Given the description of an element on the screen output the (x, y) to click on. 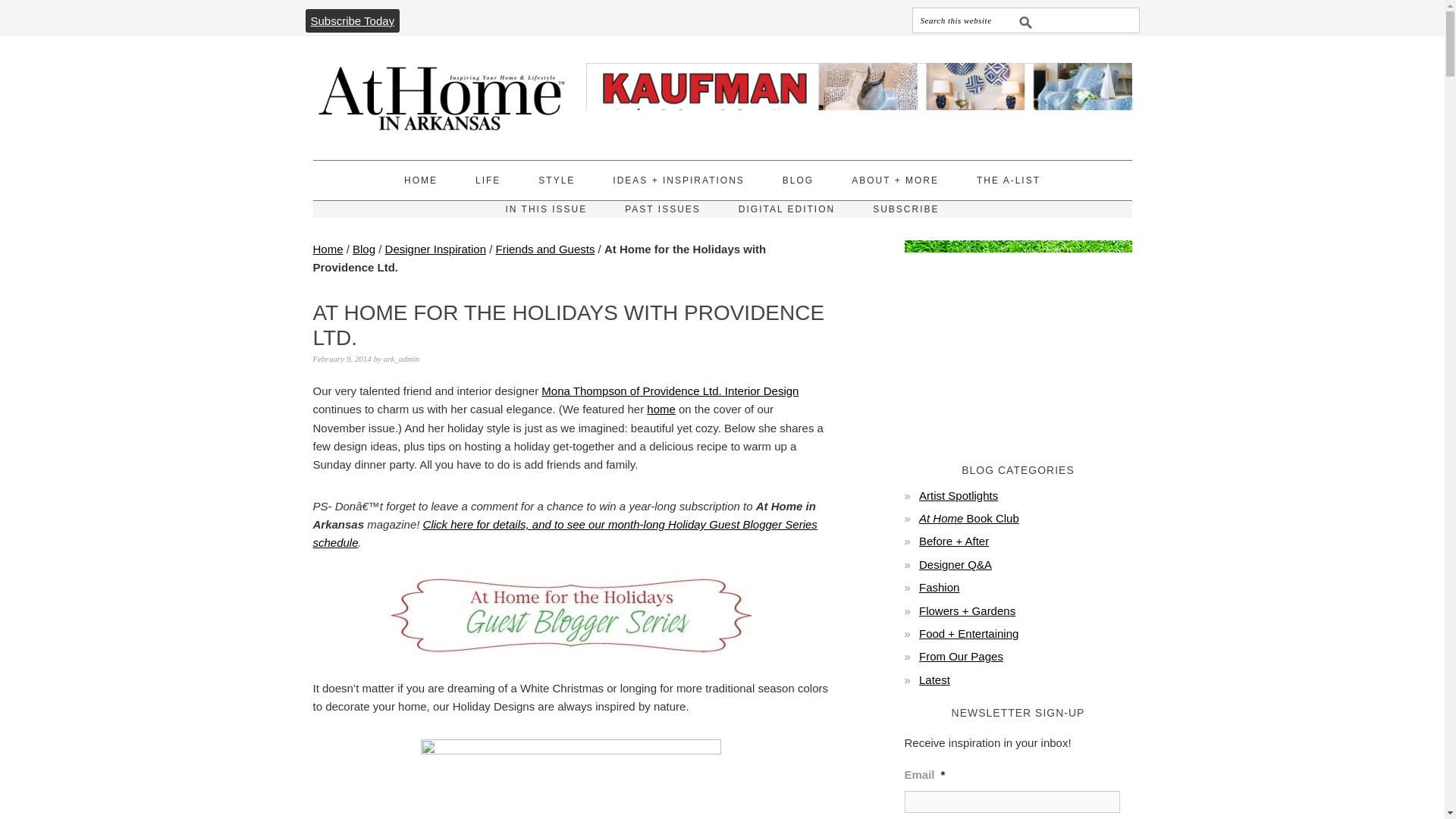
holidaybanner (570, 615)
LIFE (488, 179)
HOME (421, 179)
STYLE (556, 179)
Subscribe Today (351, 20)
AT HOME IN ARKANSAS (441, 91)
House Beautiful 2 (570, 779)
